Given the description of an element on the screen output the (x, y) to click on. 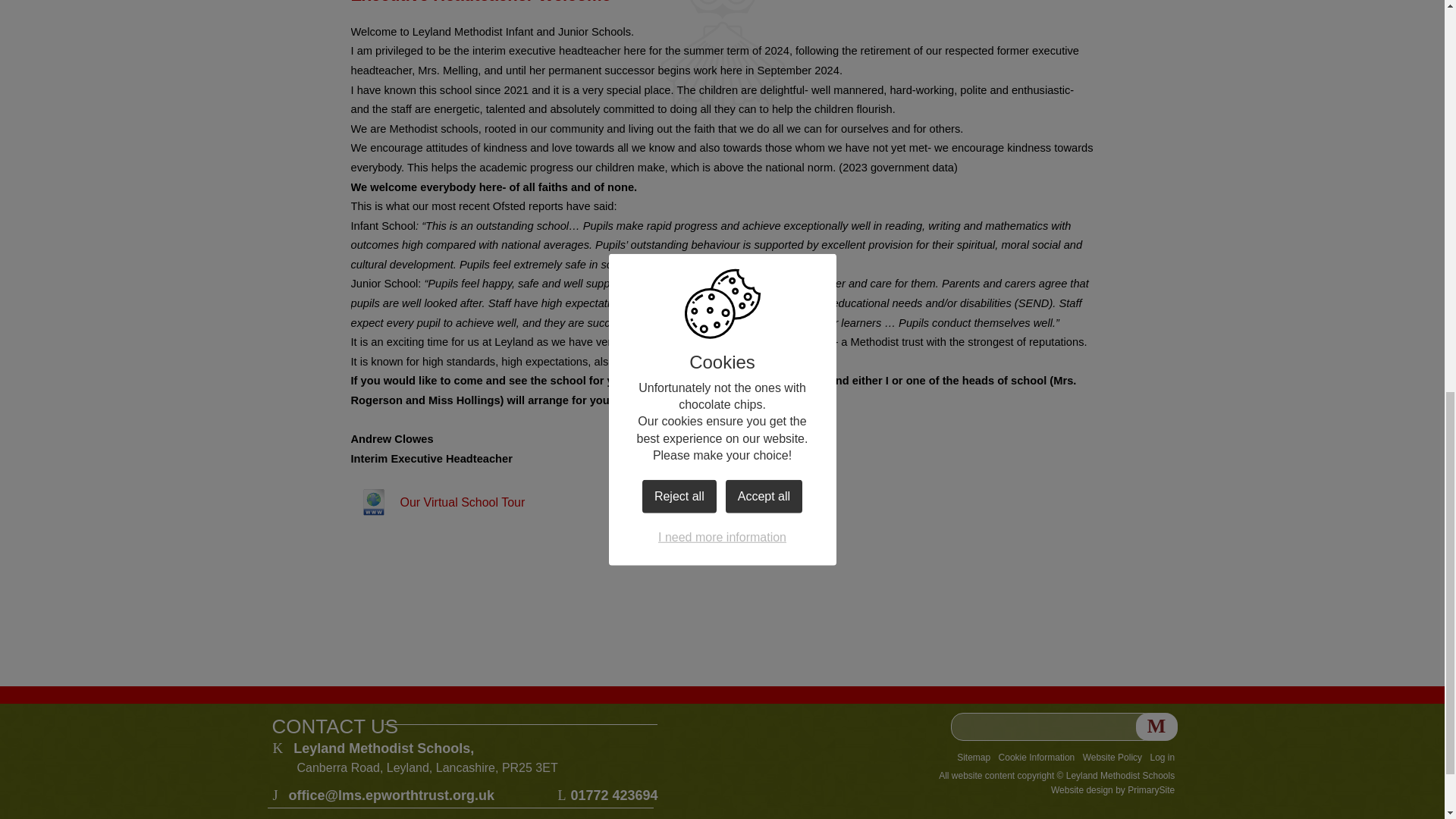
M (1156, 726)
